Given the description of an element on the screen output the (x, y) to click on. 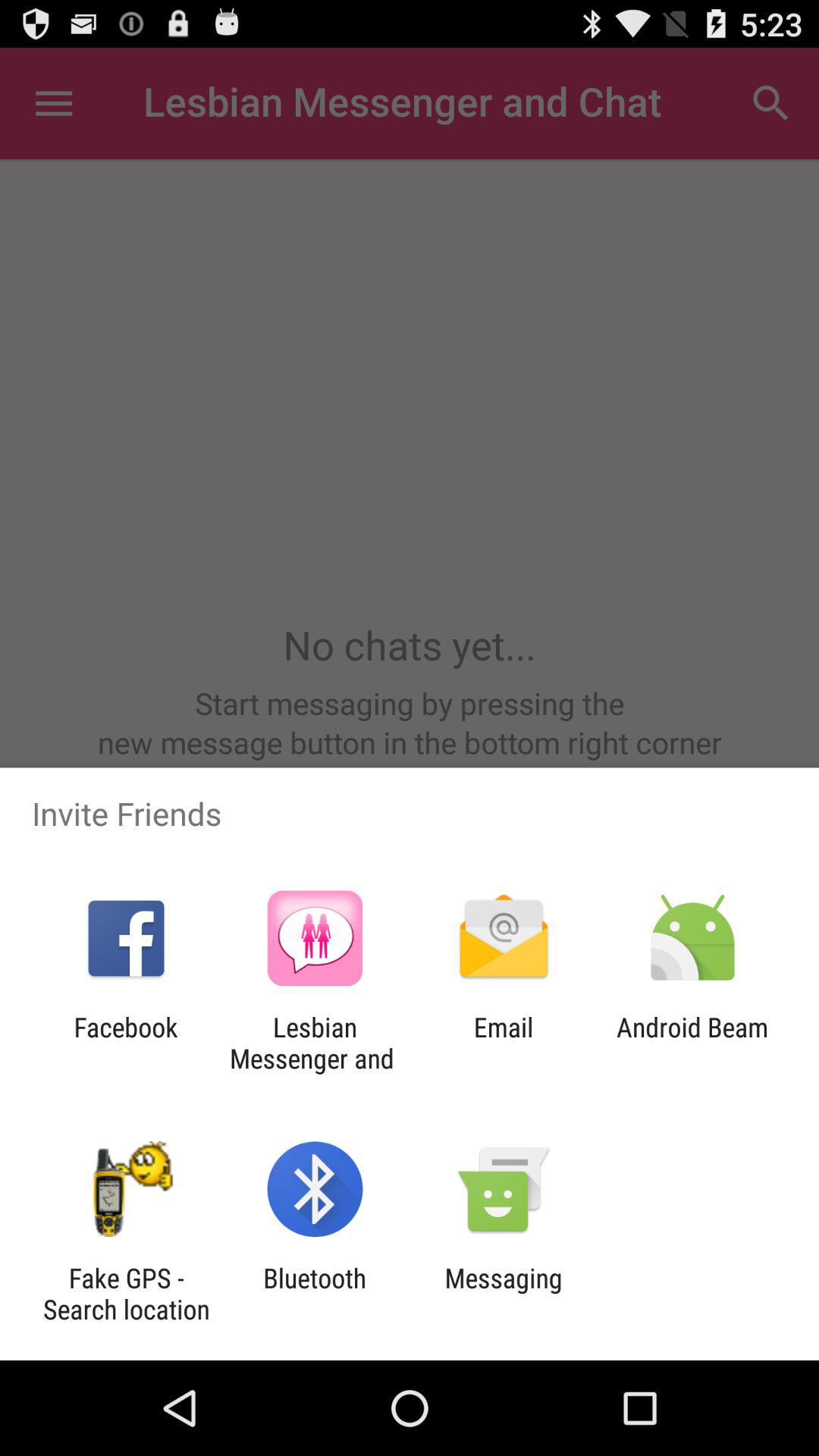
flip until the messaging icon (503, 1293)
